Given the description of an element on the screen output the (x, y) to click on. 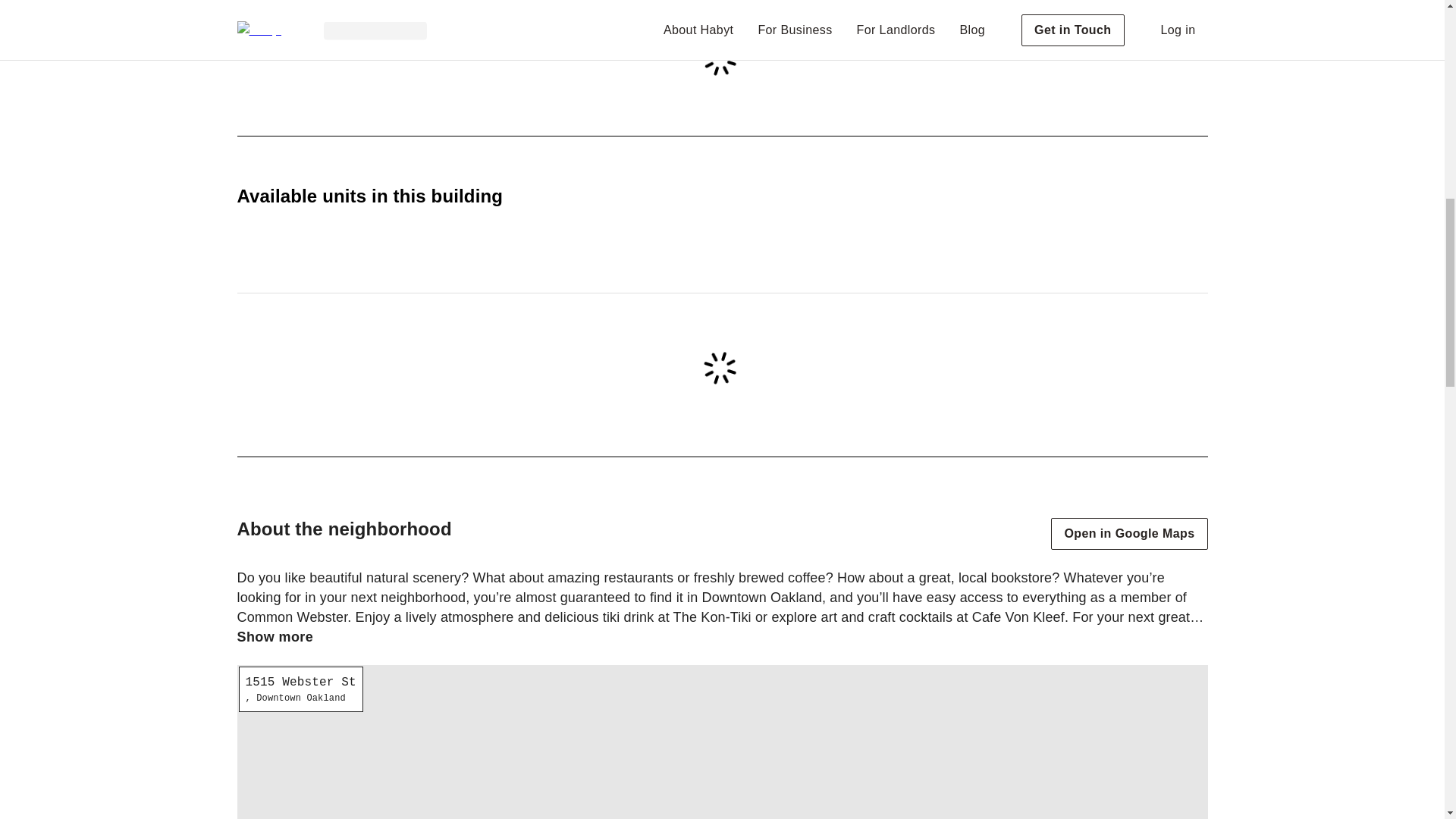
Open in Google Maps (1129, 533)
Show more (274, 637)
